Given the description of an element on the screen output the (x, y) to click on. 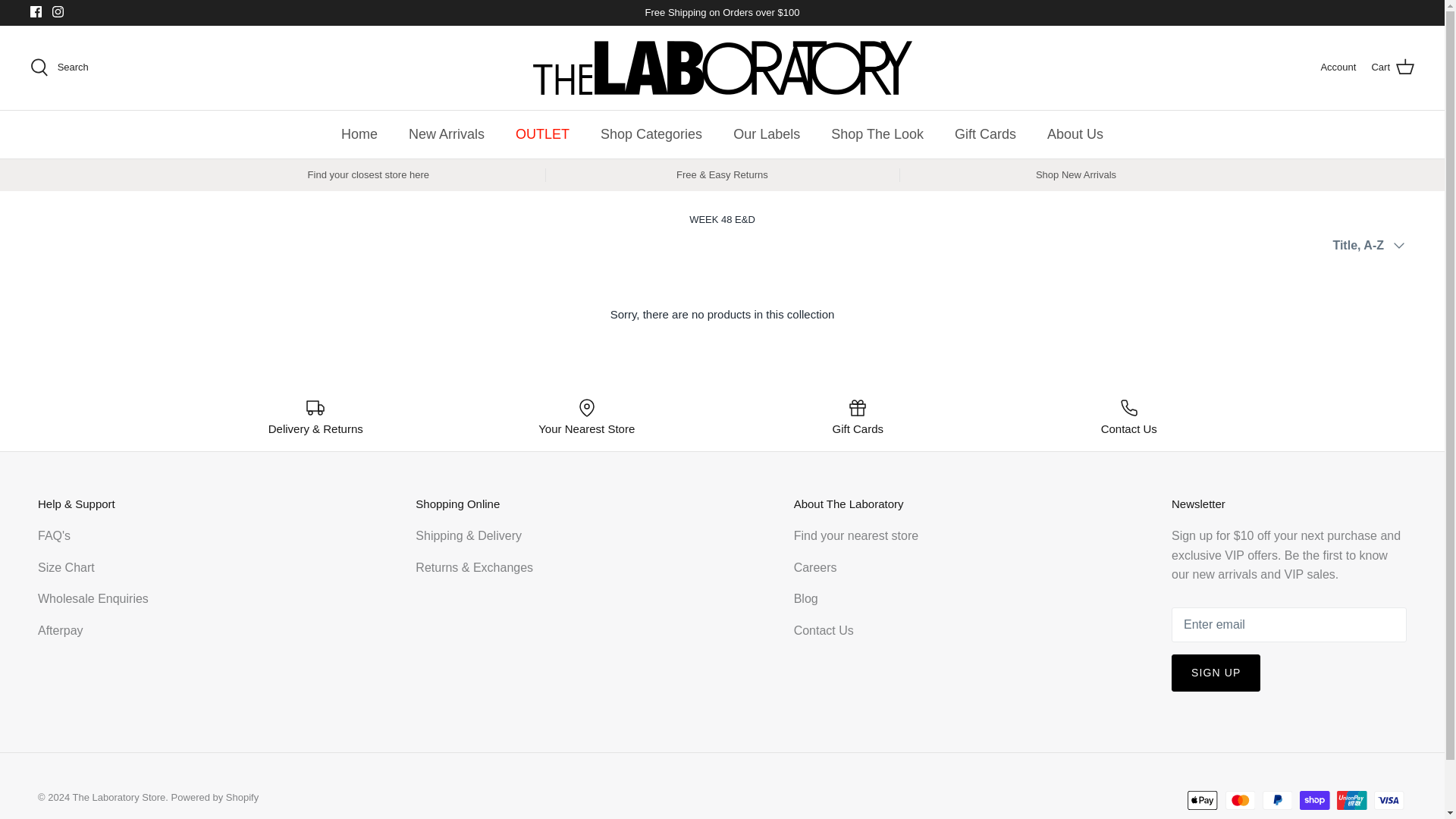
Visa (1388, 800)
Search (59, 67)
Shop Pay (1314, 800)
The Laboratory Store (721, 67)
Mastercard (1240, 800)
Home (359, 134)
OUTLET (542, 134)
Sizing Chart (65, 567)
Contact Us (823, 630)
Wholesale Enquiries (92, 598)
Cart (1392, 66)
New Arrivals (445, 134)
FAQs (53, 535)
Meet The Staff (805, 598)
Apple Pay (1202, 800)
